Given the description of an element on the screen output the (x, y) to click on. 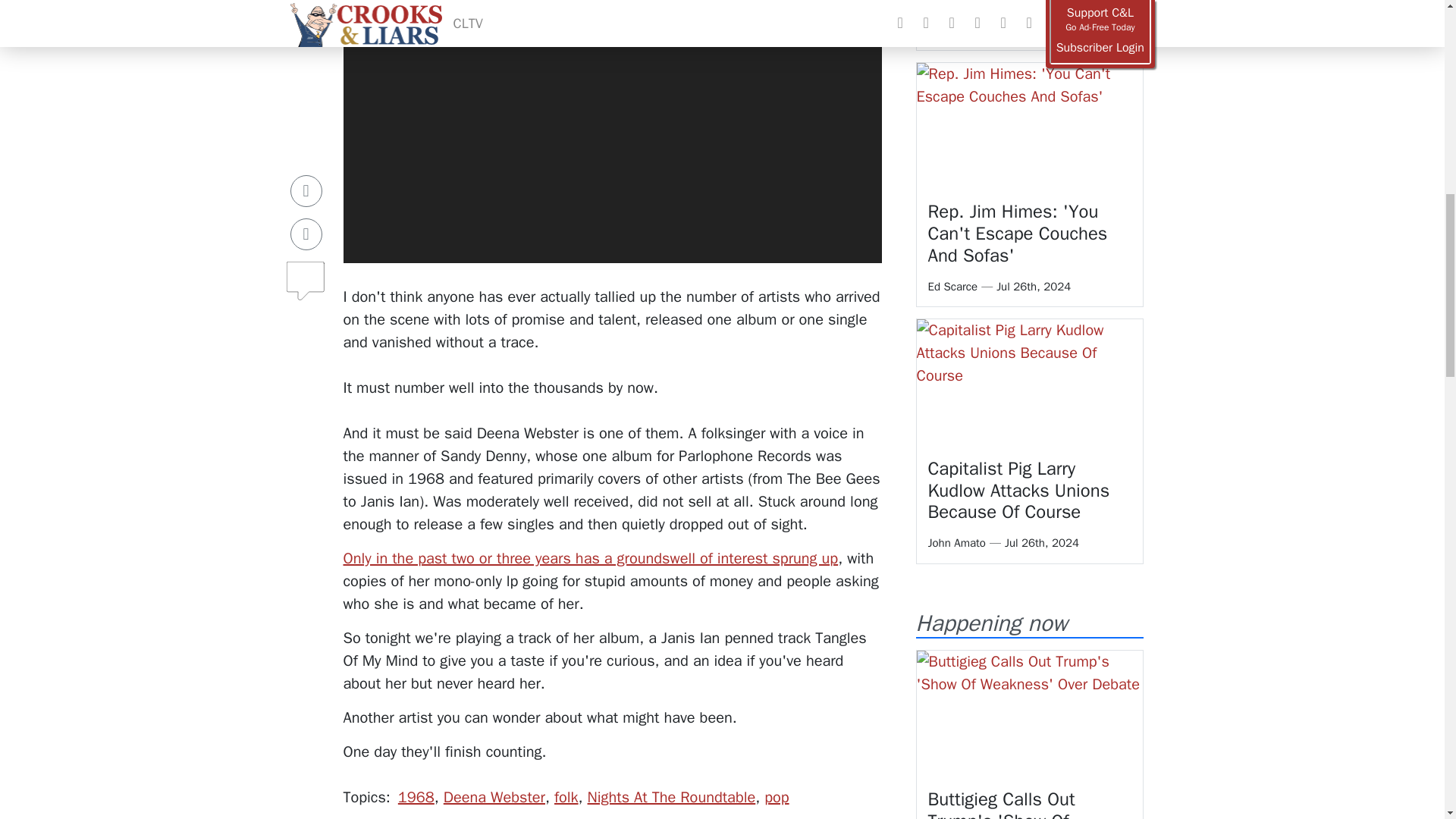
Nights At The Roundtable (671, 796)
Deena Webster (494, 796)
folk (566, 796)
pop (776, 796)
1968 (415, 796)
